Given the description of an element on the screen output the (x, y) to click on. 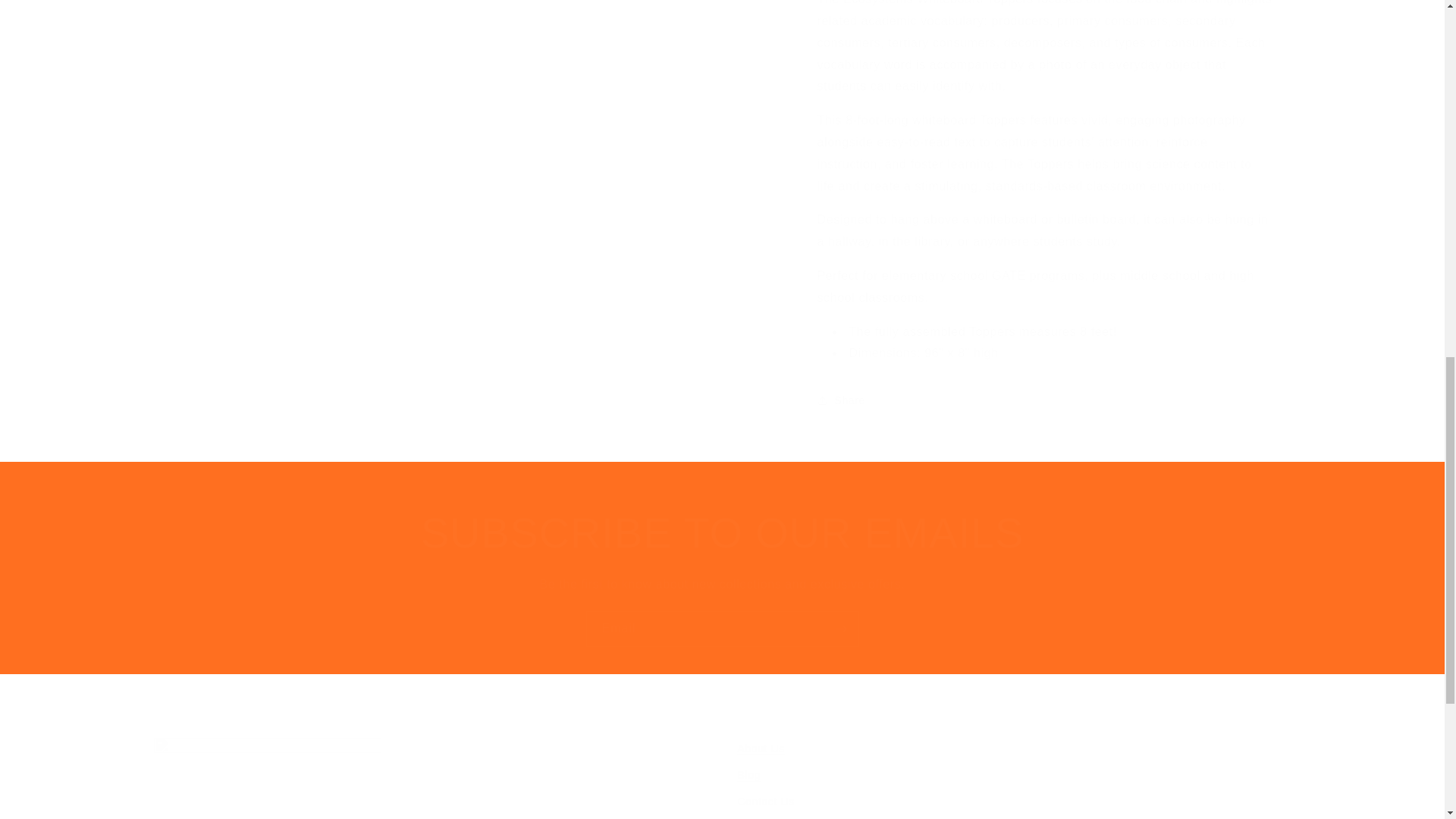
Email (722, 628)
SUBSCRIBE TO OUR EMAILS (721, 532)
Open media 1 in modal (465, 9)
